Given the description of an element on the screen output the (x, y) to click on. 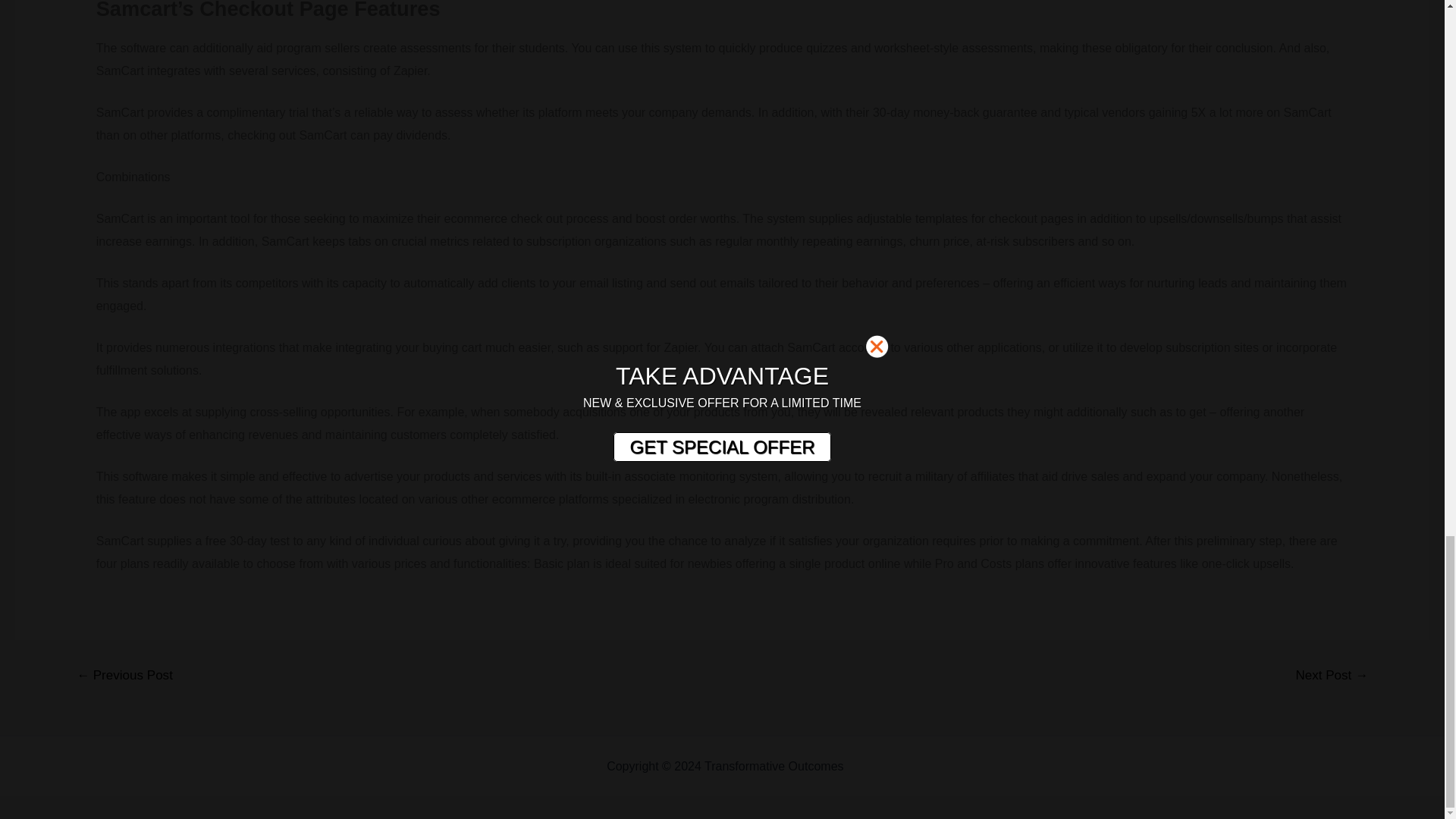
Sitemap (869, 766)
